Given the description of an element on the screen output the (x, y) to click on. 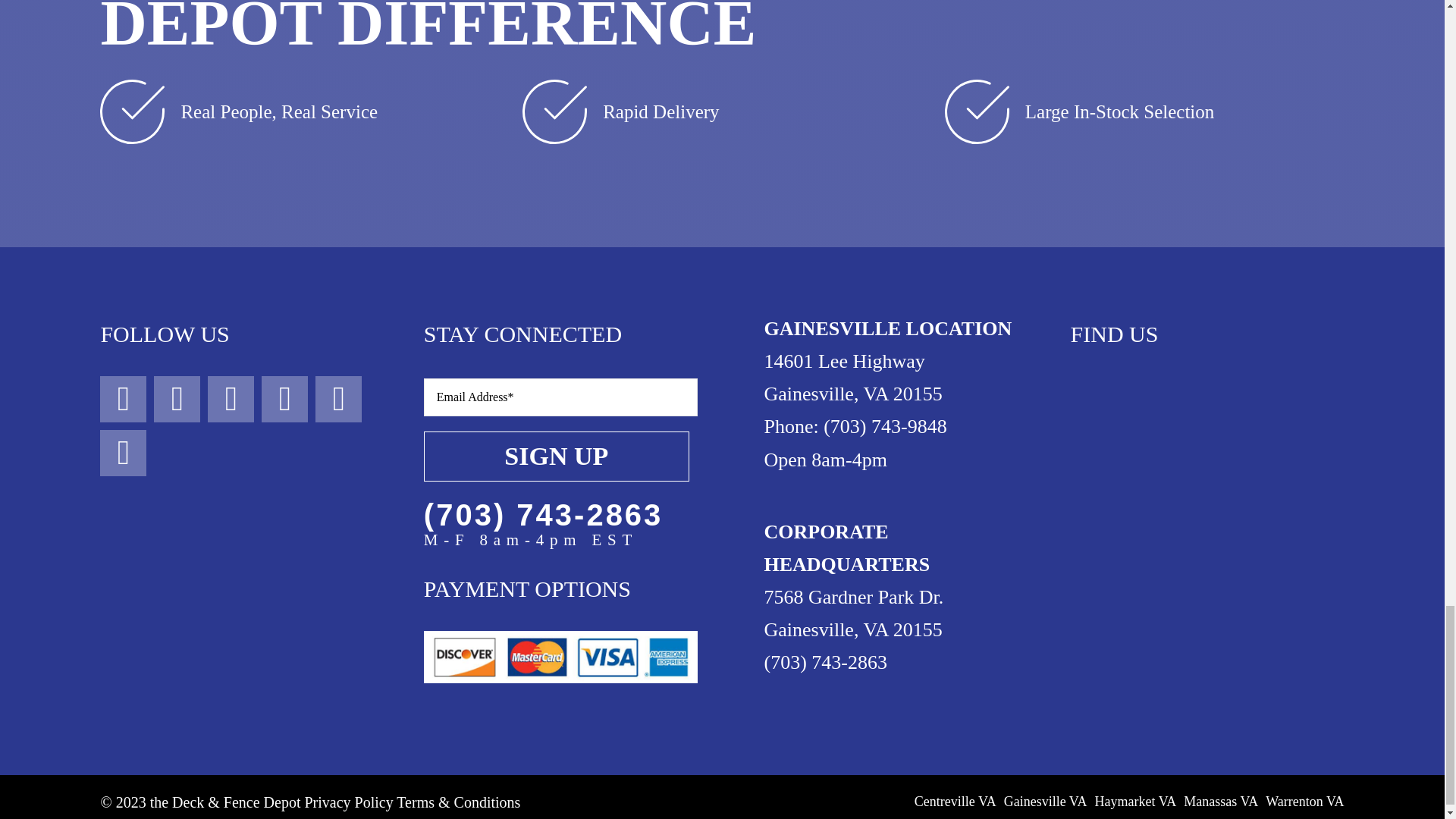
SIGN UP (560, 435)
Pinterest (338, 398)
Tiktok (284, 398)
Instagram (177, 398)
4CCImage (560, 656)
Twitter (230, 398)
Facebook (123, 398)
LinkedIn (123, 452)
